Given the description of an element on the screen output the (x, y) to click on. 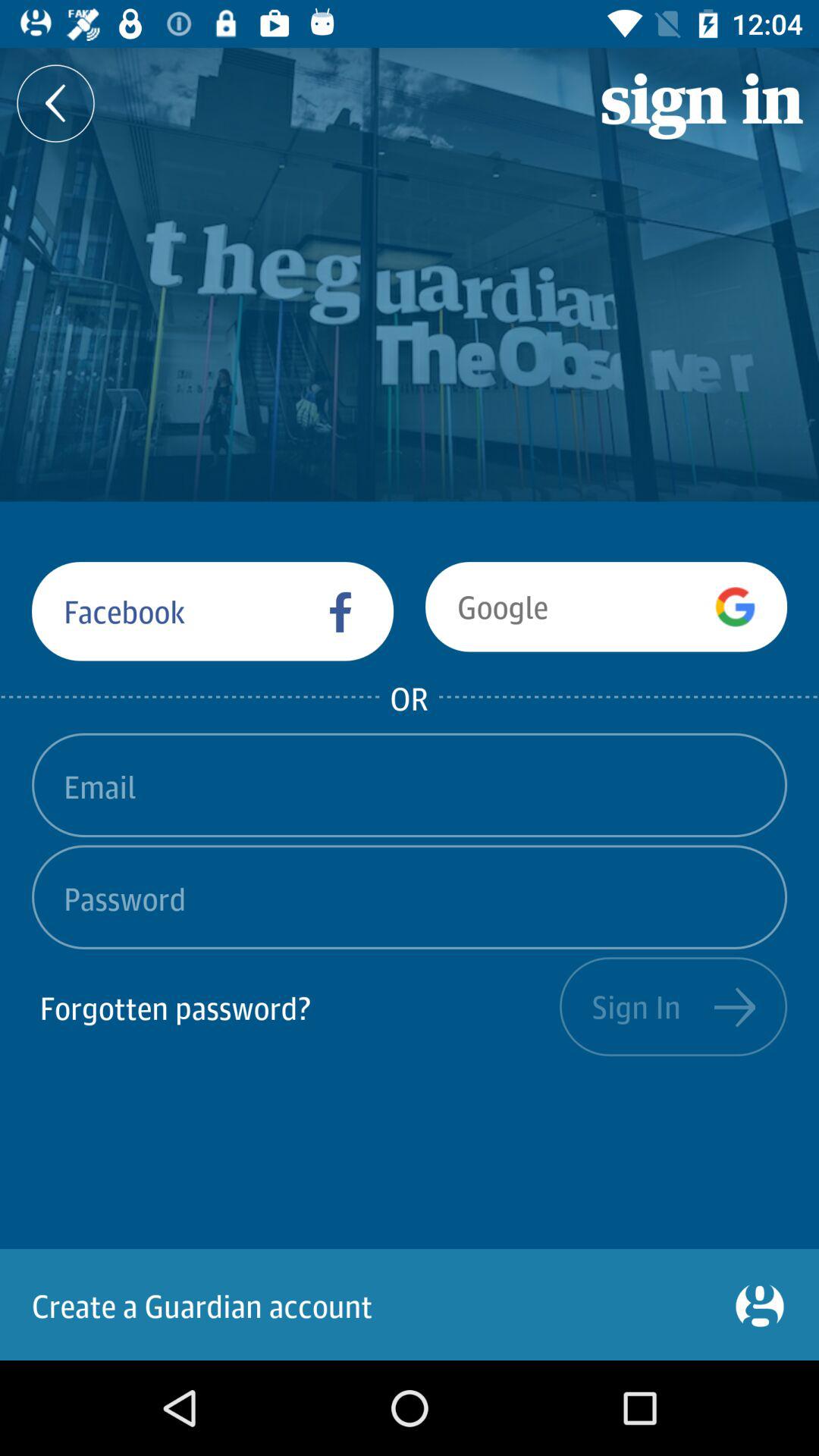
type email (409, 785)
